Given the description of an element on the screen output the (x, y) to click on. 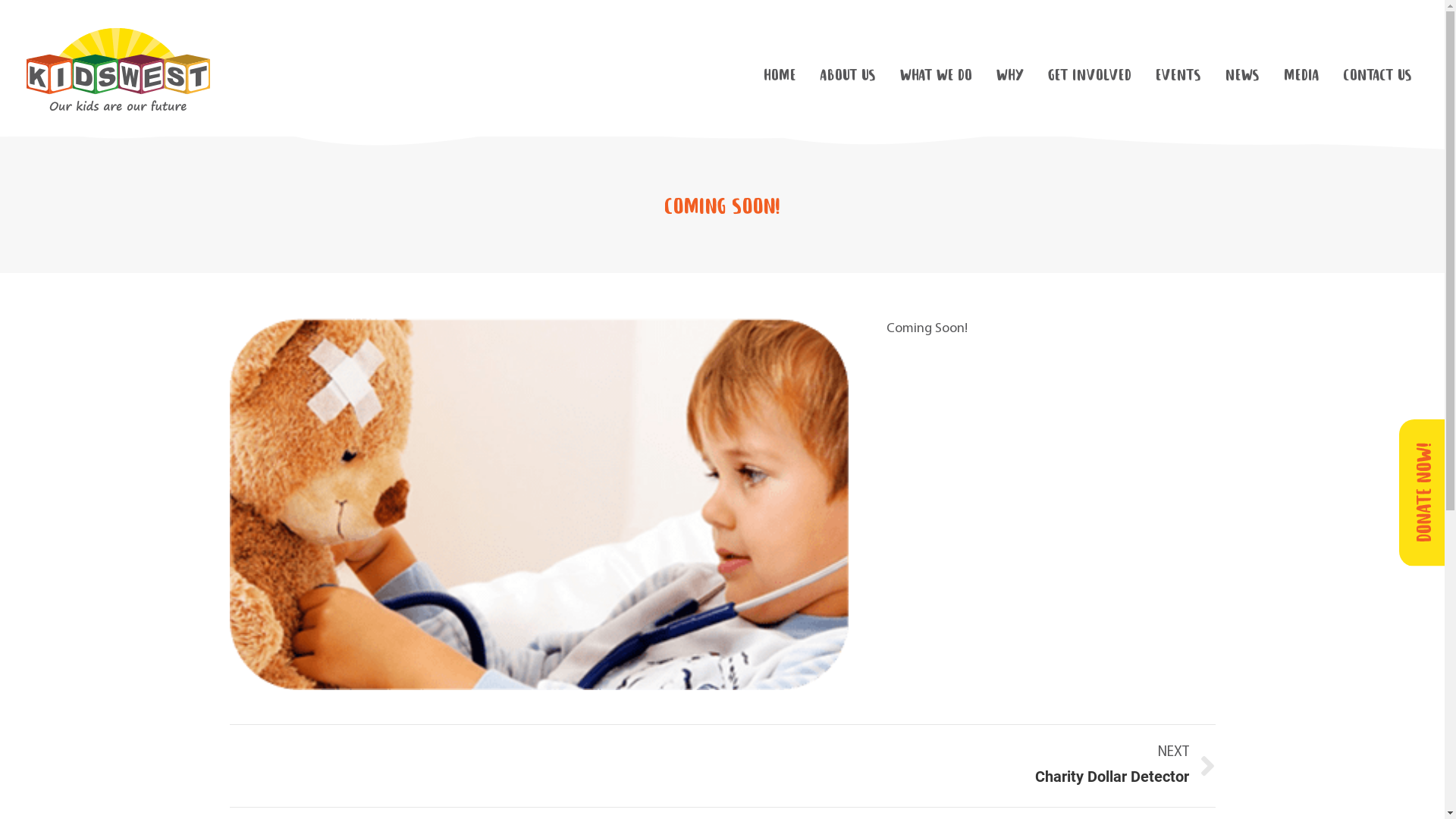
ABOUT US Element type: text (847, 75)
CONTACT US Element type: text (1377, 75)
HOME Element type: text (779, 75)
NEWS Element type: text (1242, 75)
NEXT
Next project:
Charity Dollar Detector Element type: text (979, 765)
WHY Element type: text (1009, 75)
WHAT WE DO Element type: text (936, 75)
MEDIA Element type: text (1301, 75)
GET INVOLVED Element type: text (1089, 75)
EVENTS Element type: text (1178, 75)
